Given the description of an element on the screen output the (x, y) to click on. 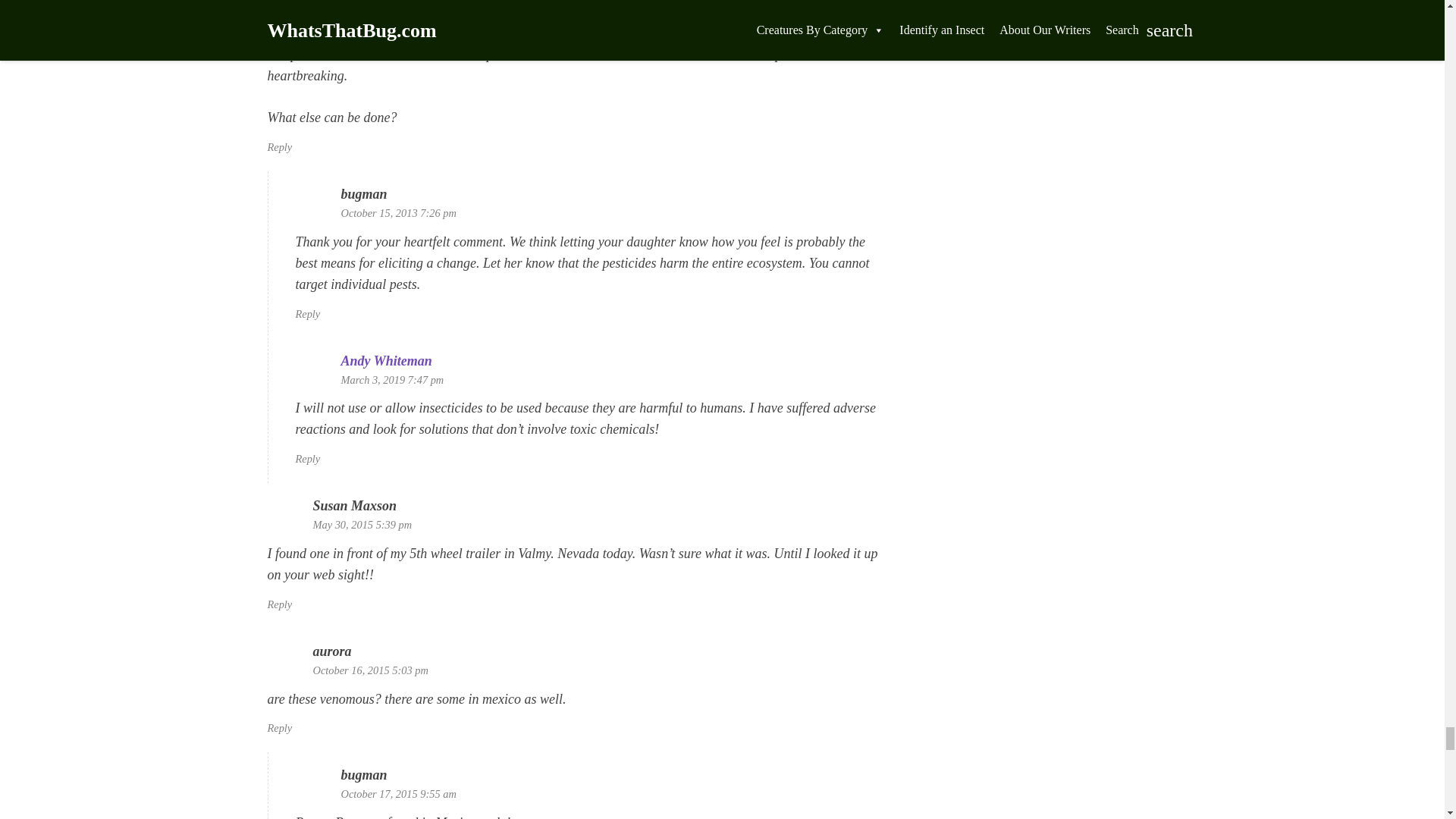
October 17, 2015 9:55 am (398, 793)
October 15, 2013 7:26 pm (398, 213)
May 30, 2015 5:39 pm (362, 524)
October 16, 2015 5:03 pm (370, 670)
March 3, 2019 7:47 pm (392, 379)
